Given the description of an element on the screen output the (x, y) to click on. 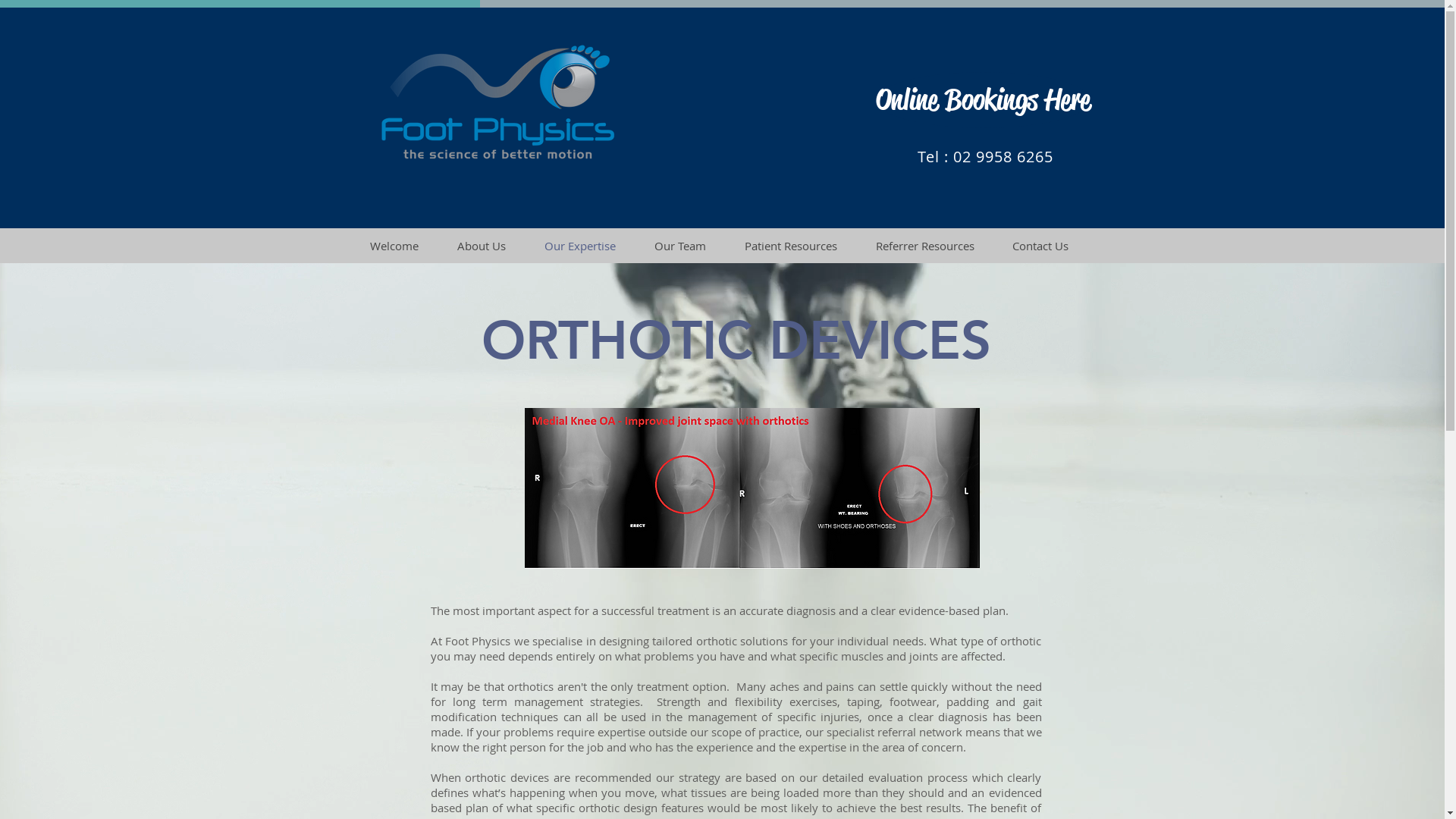
Patient Resources Element type: text (790, 245)
Referrer Resources Element type: text (924, 245)
Our Team Element type: text (680, 245)
About Us Element type: text (481, 245)
Our Expertise Element type: text (579, 245)
Welcome Element type: text (393, 245)
Online Bookings Here Element type: text (982, 100)
Contact Us Element type: text (1040, 245)
